Given the description of an element on the screen output the (x, y) to click on. 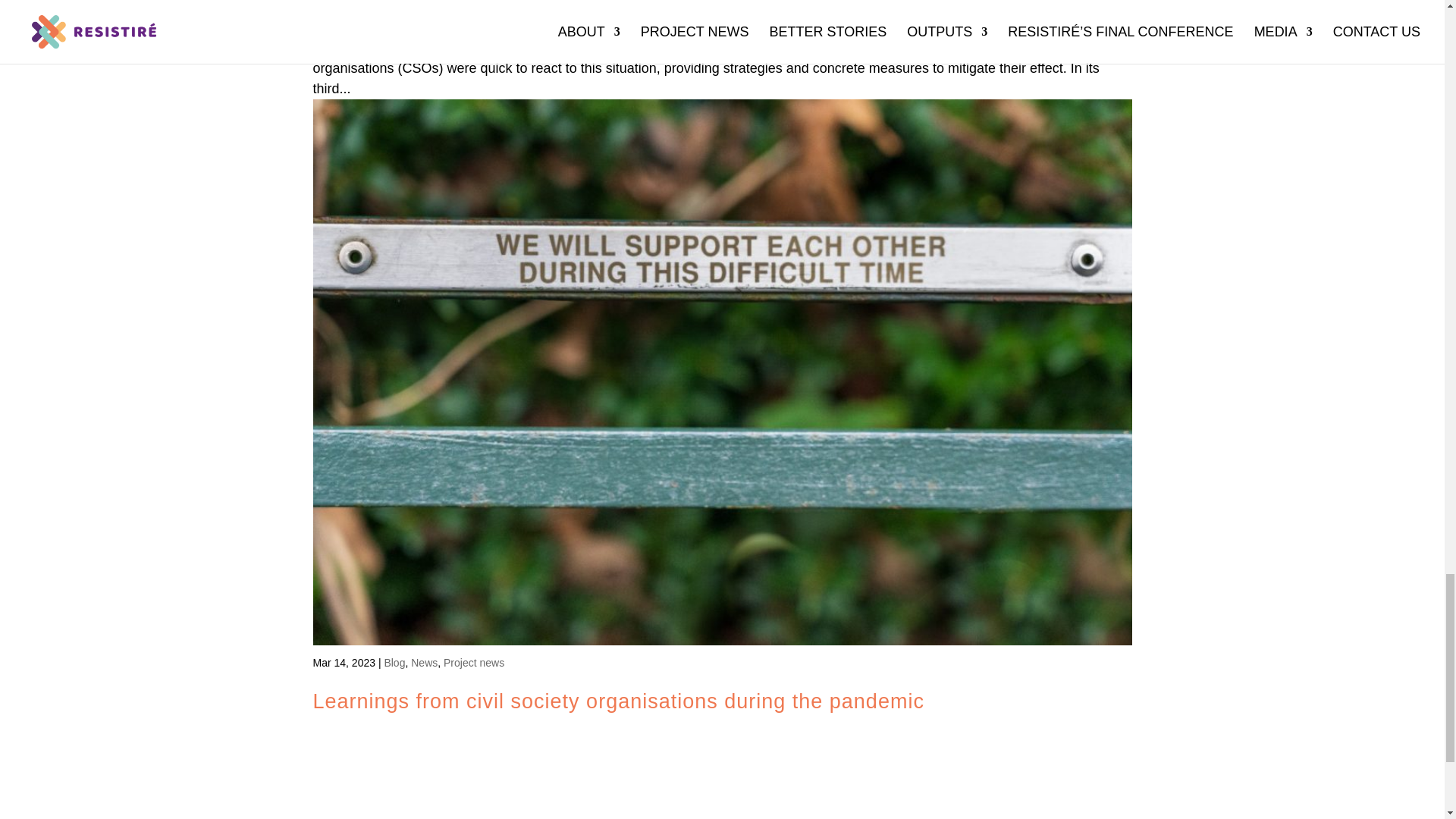
News (424, 662)
Blog (394, 662)
Project news (473, 662)
